Given the description of an element on the screen output the (x, y) to click on. 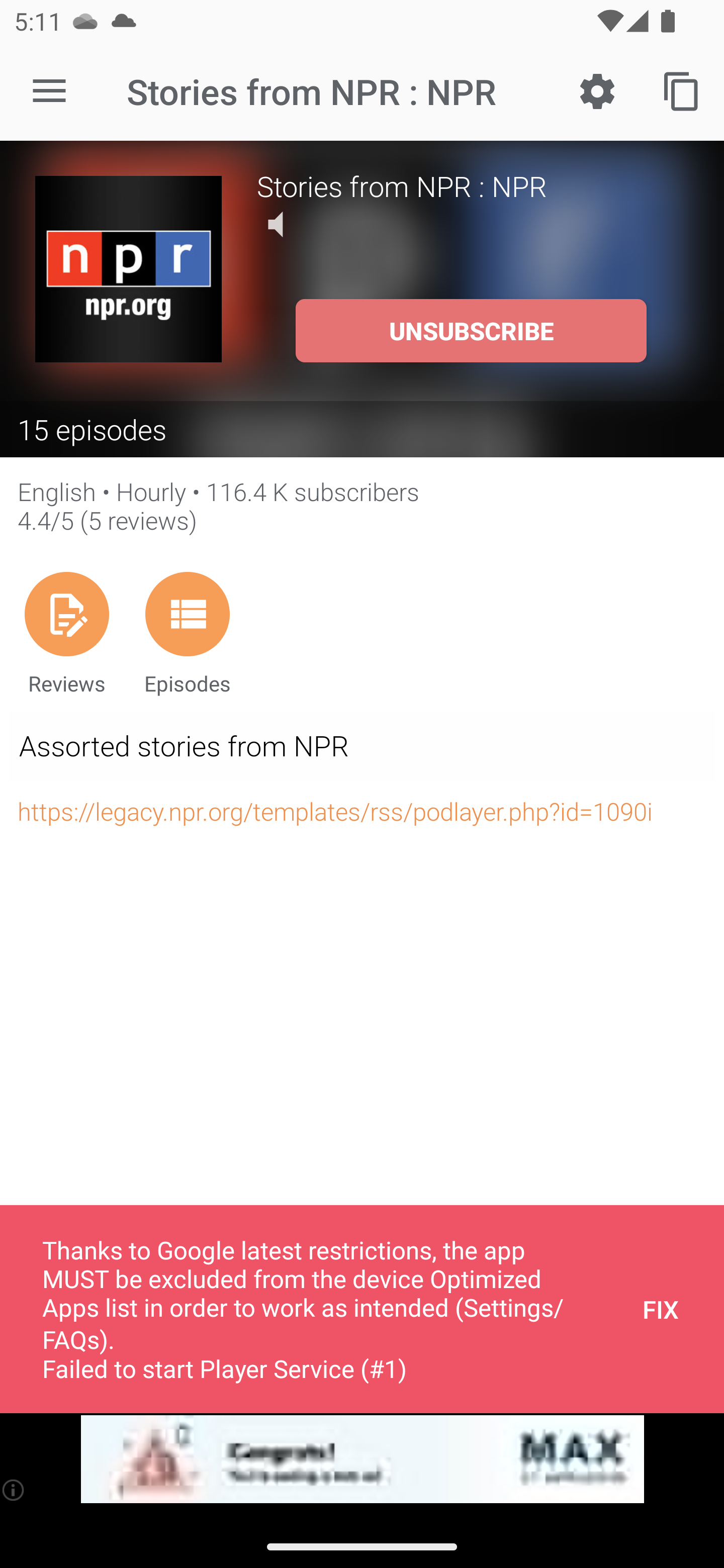
Open navigation sidebar (49, 91)
Settings (597, 90)
Copy feed url to clipboard (681, 90)
Stories from NPR : NPR (472, 185)
UNSUBSCRIBE (470, 330)
Reviews (66, 633)
Episodes (187, 633)
FIX (660, 1308)
app-monetization (362, 1459)
(i) (14, 1489)
